Given the description of an element on the screen output the (x, y) to click on. 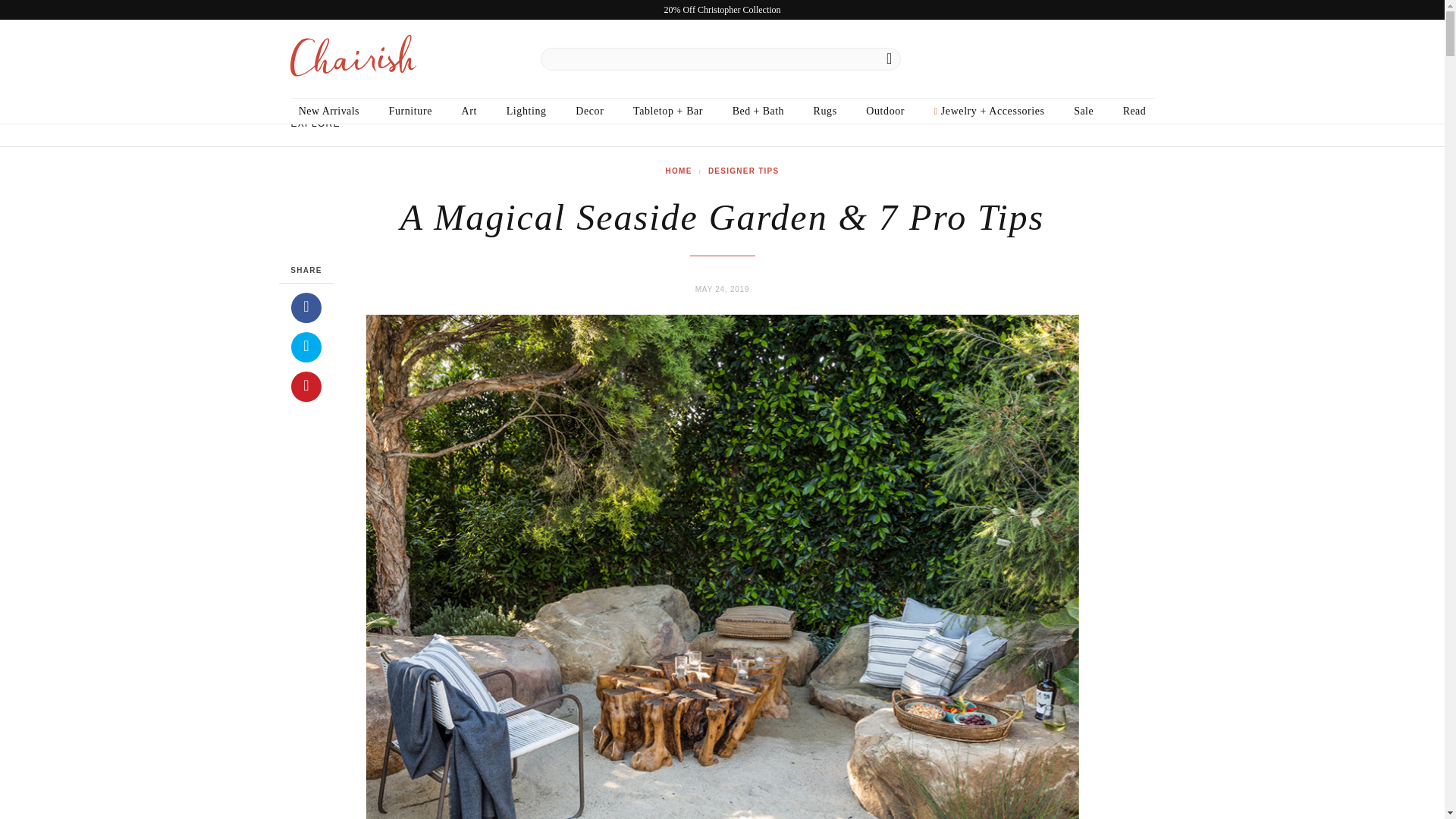
Chairish - The Art of Vintage. The Luxury of Home. (351, 58)
New Arrivals (328, 110)
Furniture (410, 110)
